Given the description of an element on the screen output the (x, y) to click on. 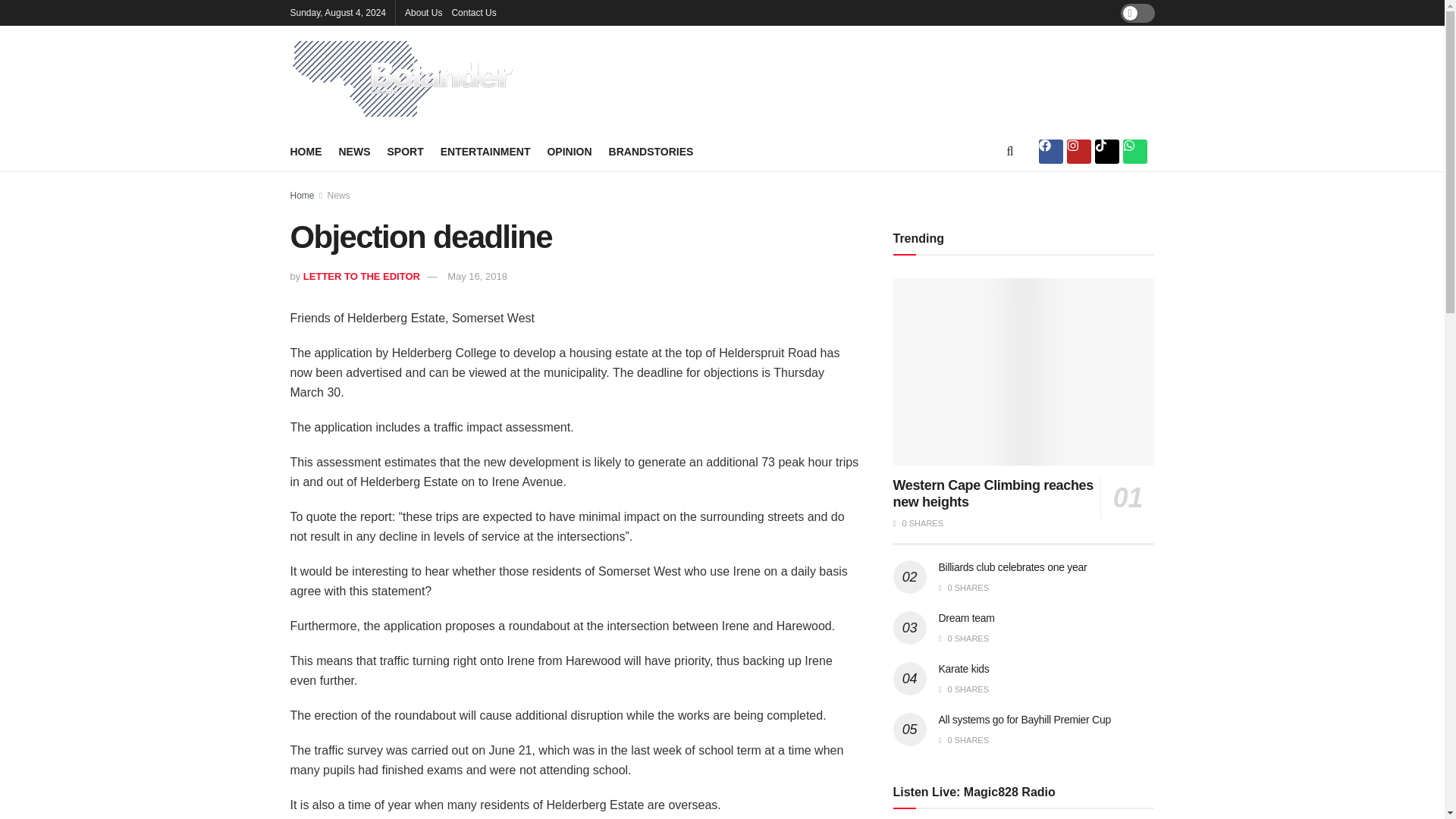
NEWS (353, 151)
SPORT (405, 151)
OPINION (569, 151)
May 16, 2018 (476, 276)
ENTERTAINMENT (486, 151)
News (338, 195)
About Us (423, 12)
Home (301, 195)
HOME (305, 151)
BRANDSTORIES (651, 151)
Contact Us (473, 12)
LETTER TO THE EDITOR (361, 276)
